Given the description of an element on the screen output the (x, y) to click on. 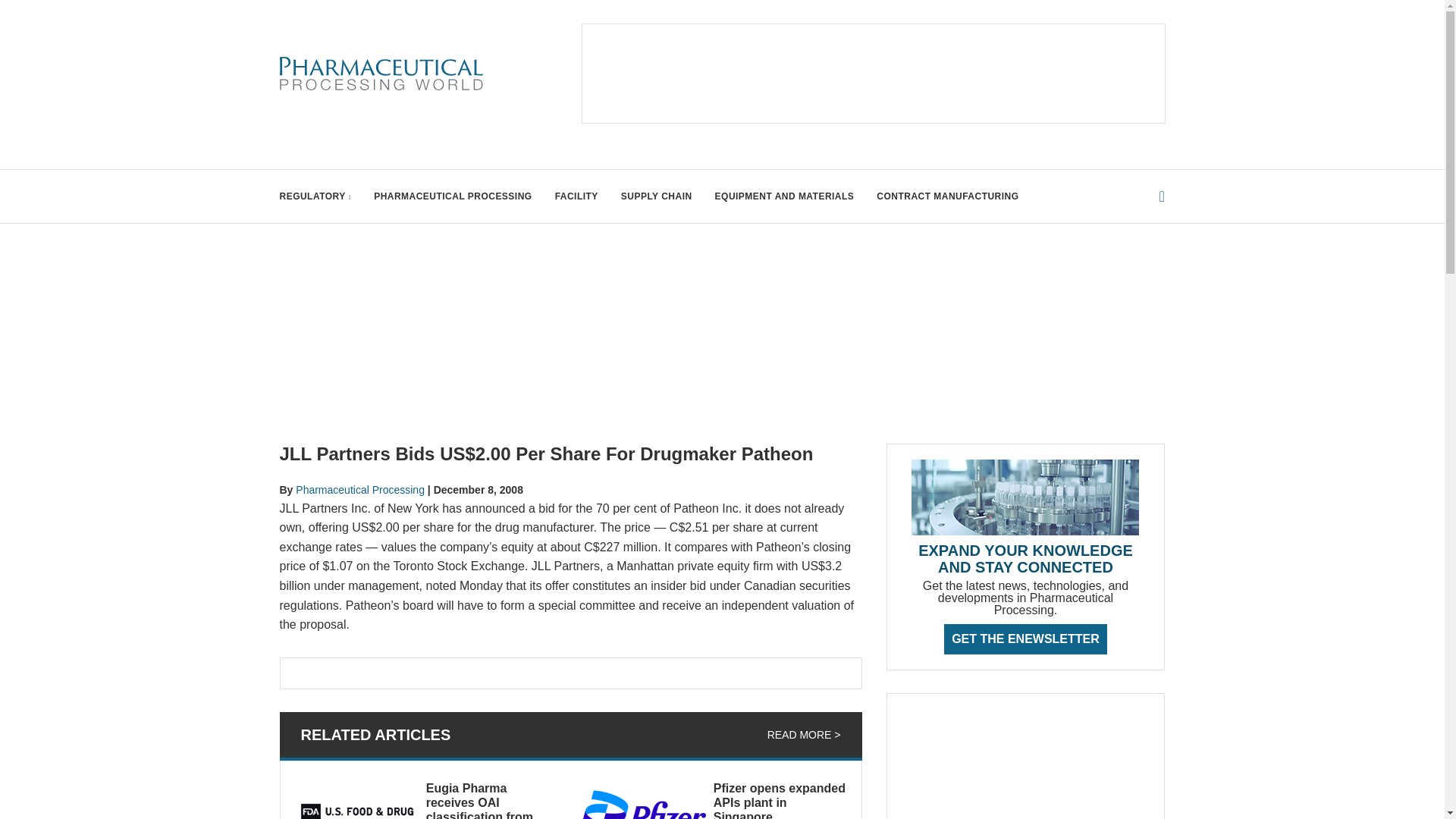
Pfizer opens expanded APIs plant in Singapore (779, 800)
CONTRACT MANUFACTURING (946, 195)
EQUIPMENT AND MATERIALS (784, 195)
3rd party ad content (1024, 764)
GET THE ENEWSLETTER (1024, 638)
3rd party ad content (873, 73)
Pharmaceutical Processing (360, 490)
GET THE ENEWSLETTER (1024, 638)
